Given the description of an element on the screen output the (x, y) to click on. 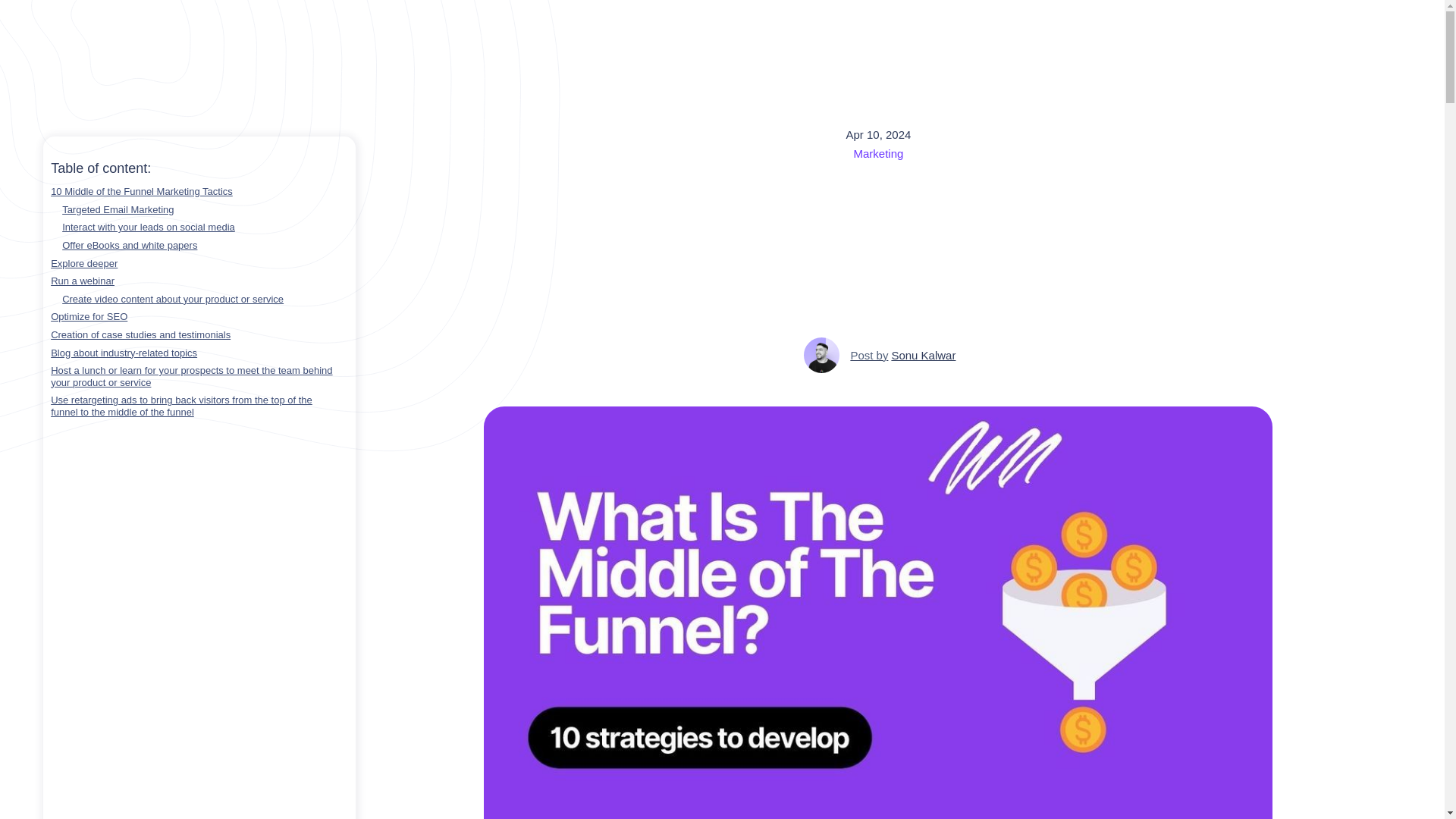
10 Middle of the Funnel Marketing Tactics (195, 191)
Interact with your leads on social media (195, 227)
Blog about industry-related topics (195, 353)
Offer eBooks and white papers (195, 245)
Targeted Email Marketing (195, 209)
Creation of case studies and testimonials (195, 335)
Create video content about your product or service (877, 354)
